Given the description of an element on the screen output the (x, y) to click on. 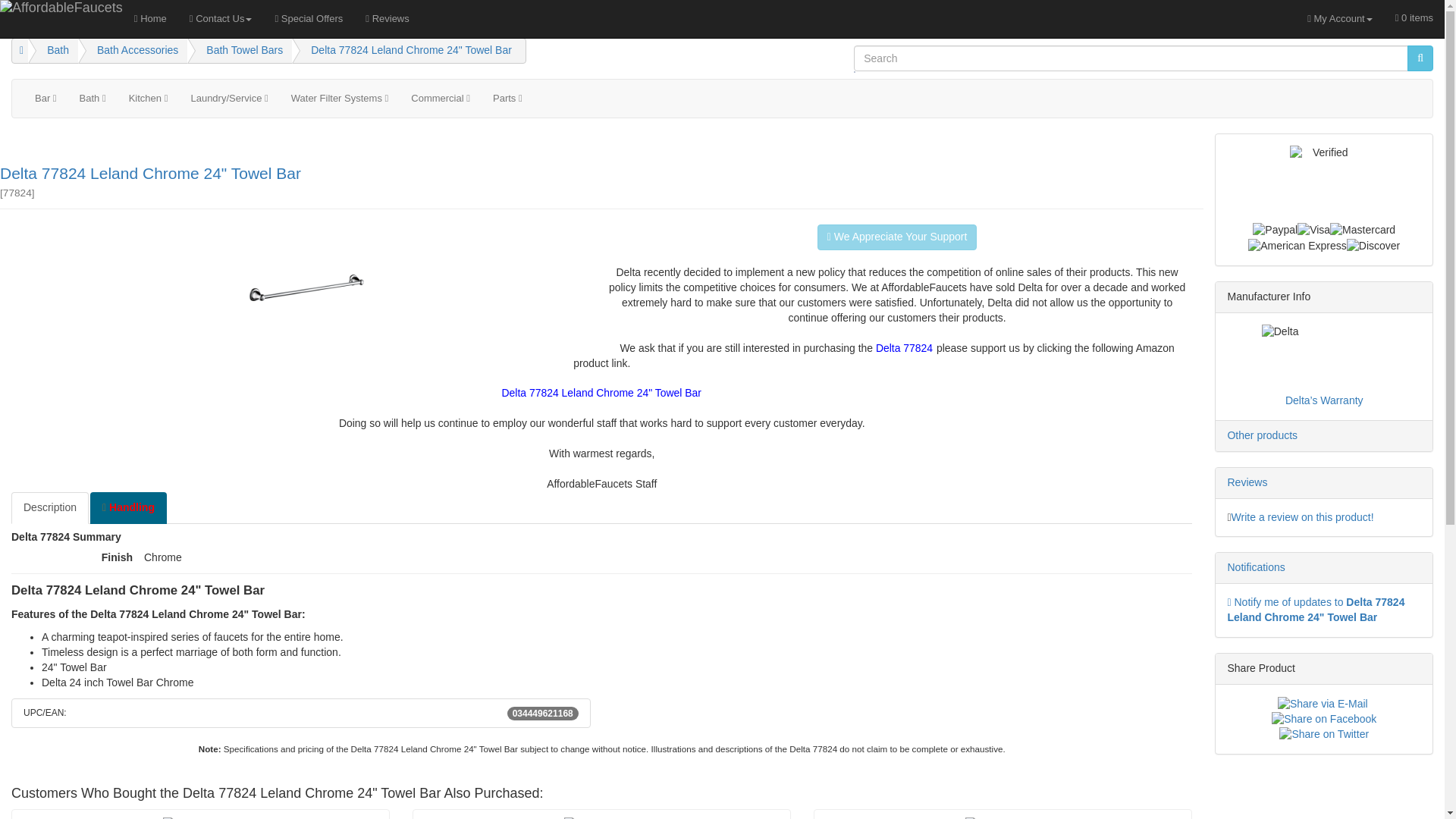
Delta 77846 Leland Chrome Towel Ring (1003, 818)
Visa (1313, 230)
Contact Us (220, 18)
Bar (45, 98)
My Account (1339, 18)
Mastercard (1362, 230)
Share via E-Mail (1323, 703)
Delta 77824 Leland Chrome 24" Towel Bar (411, 50)
Brizo 69524-BN Traditional Brushed Nickel 24" Towel Bar (602, 818)
